Given the description of an element on the screen output the (x, y) to click on. 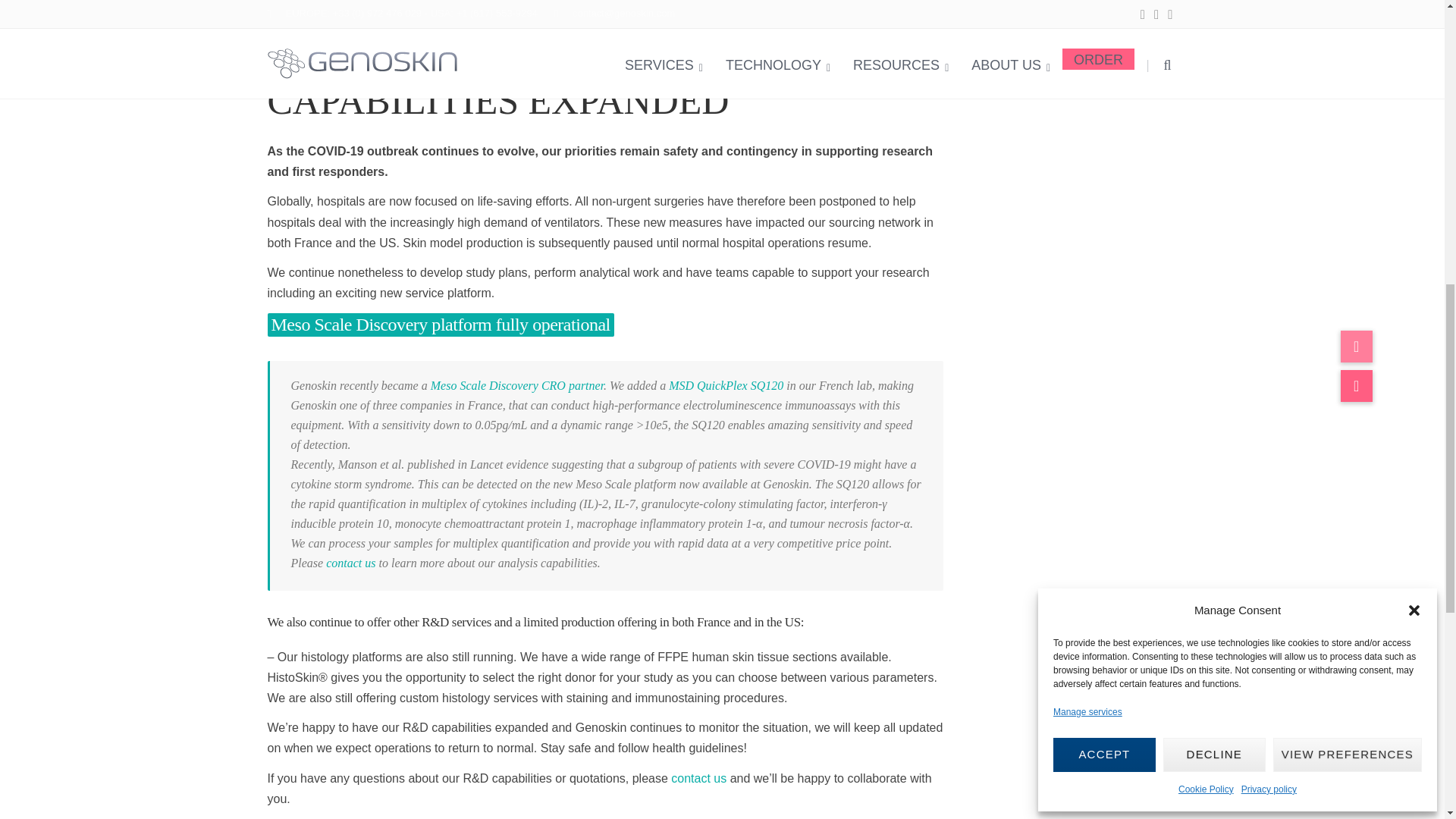
ACCEPT (1104, 74)
Cookie Policy (1205, 109)
DECLINE (1214, 74)
VIEW PREFERENCES (1347, 74)
Privacy policy (1269, 109)
Manage services (1087, 32)
